Given the description of an element on the screen output the (x, y) to click on. 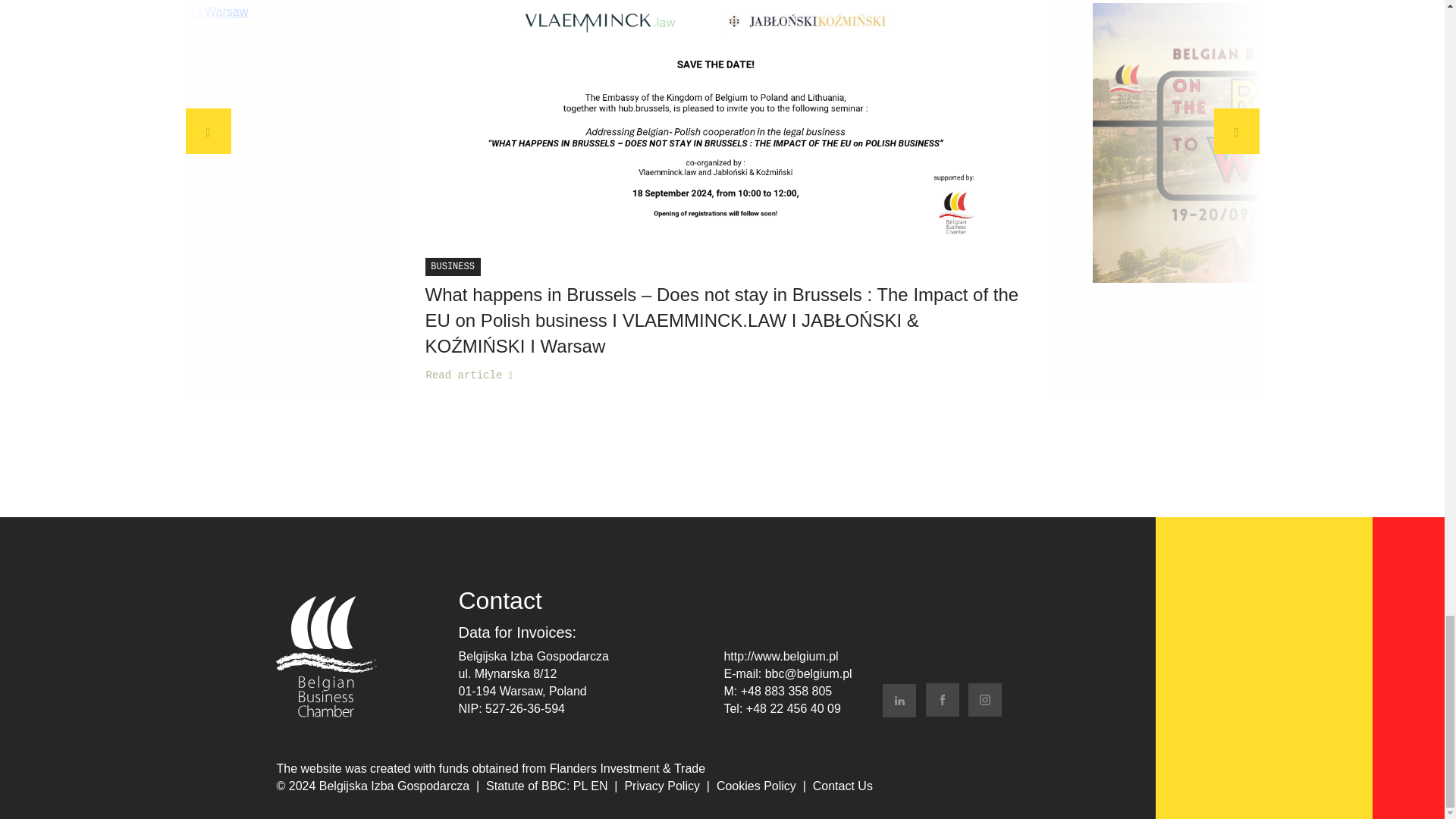
Read article (468, 375)
